Given the description of an element on the screen output the (x, y) to click on. 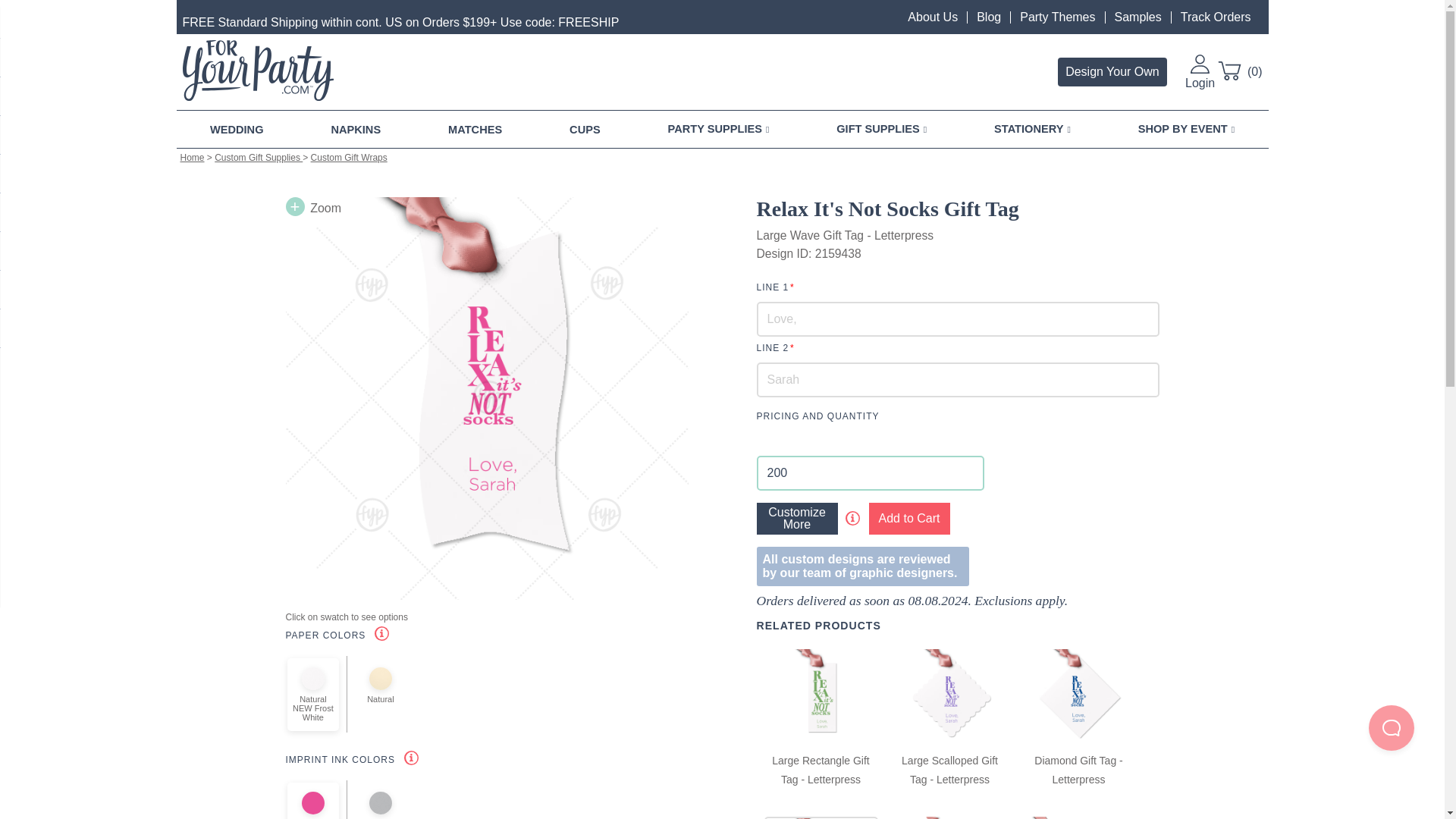
Add to Cart (909, 518)
200 (870, 472)
Blog (988, 16)
About Us (932, 16)
